Given the description of an element on the screen output the (x, y) to click on. 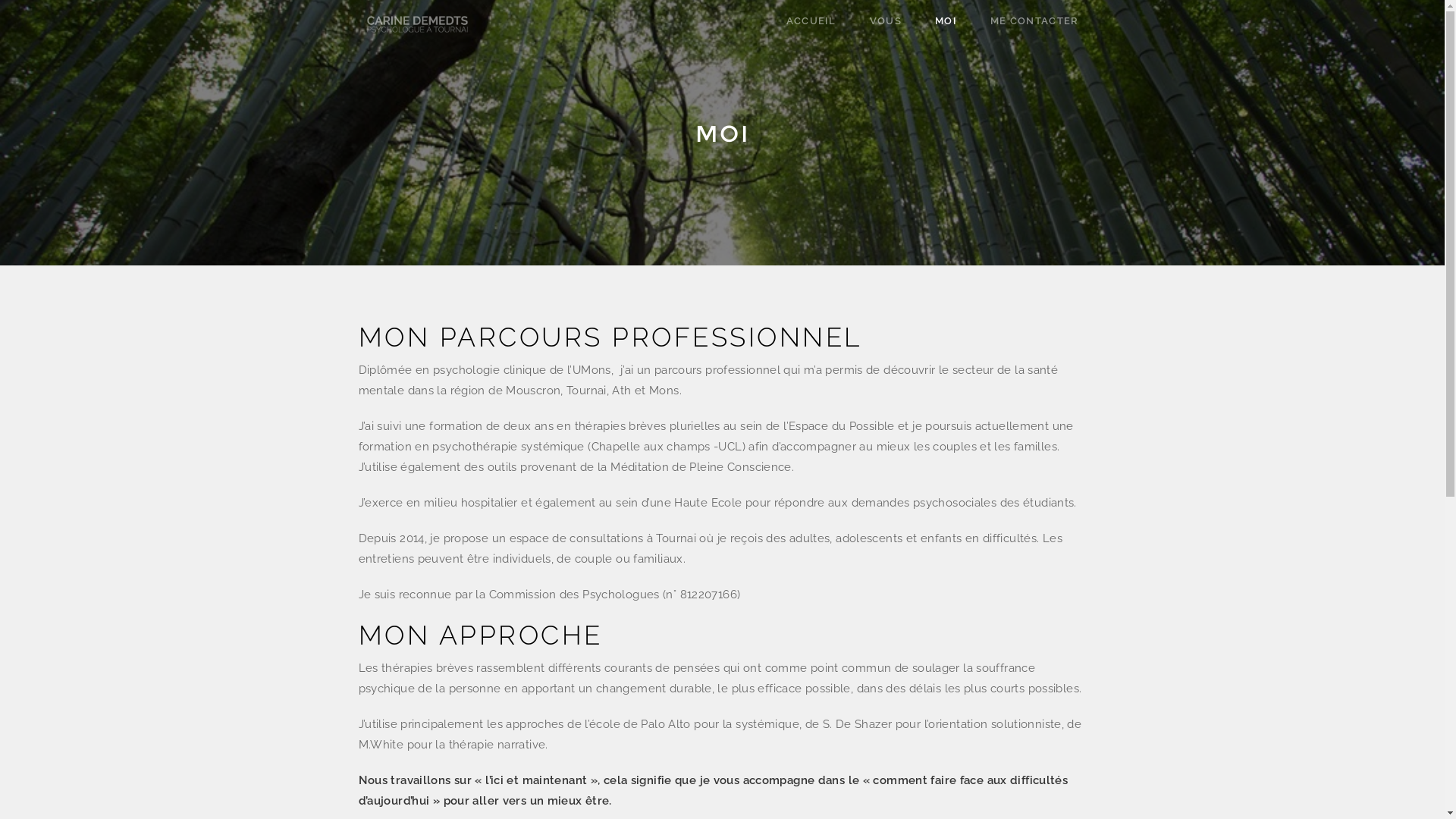
ME CONTACTER Element type: text (1034, 20)
VOUS Element type: text (885, 20)
MOI Element type: text (946, 20)
ACCUEIL Element type: text (811, 20)
